Given the description of an element on the screen output the (x, y) to click on. 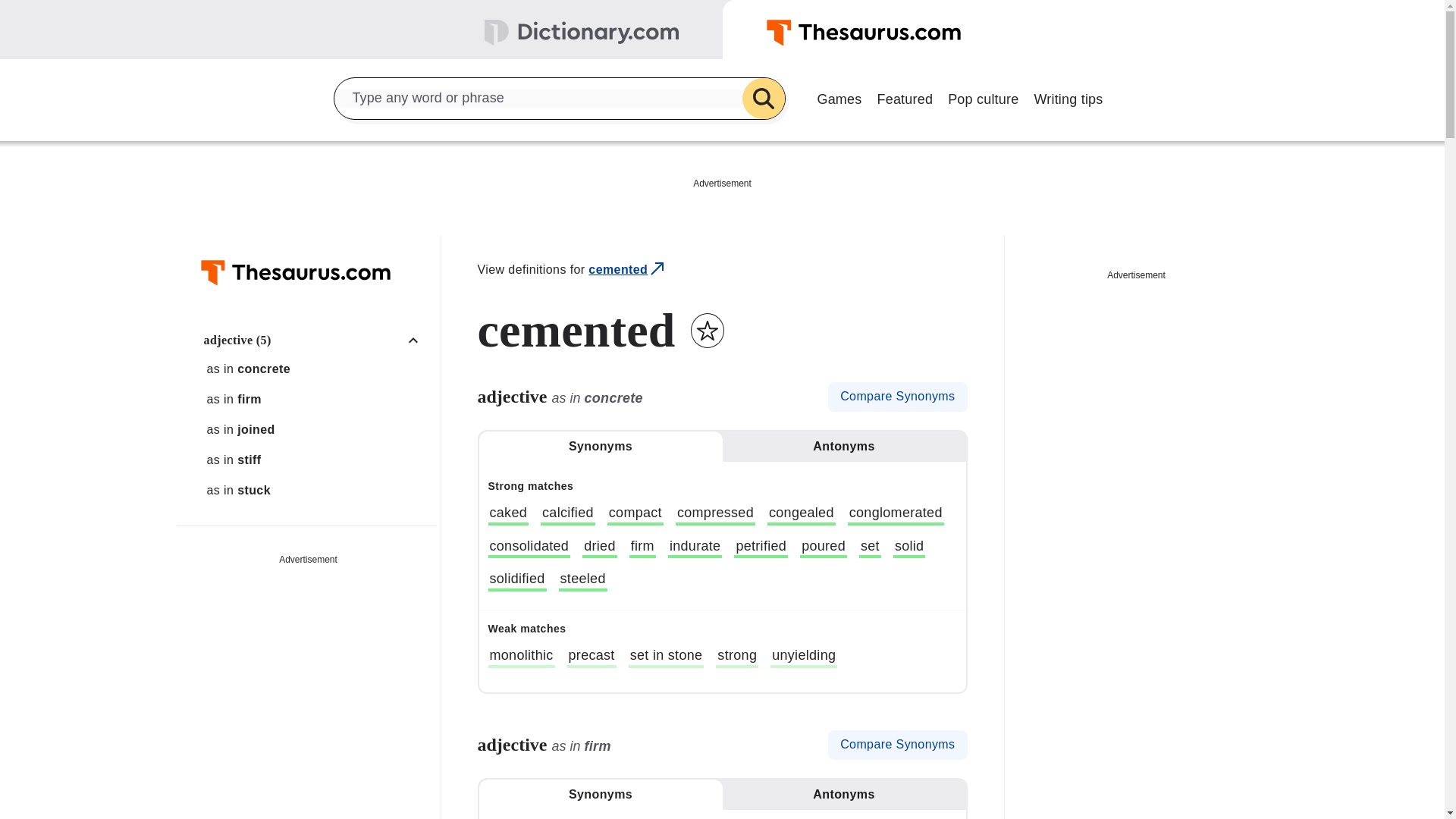
Games (839, 97)
as in concrete (316, 369)
Writing tips (1067, 97)
Compare Synonyms (897, 396)
as in stiff (316, 460)
as in stuck (316, 490)
Pop culture (983, 97)
as in joined (316, 429)
as in firm (316, 399)
Featured (904, 97)
cemented (627, 270)
